Given the description of an element on the screen output the (x, y) to click on. 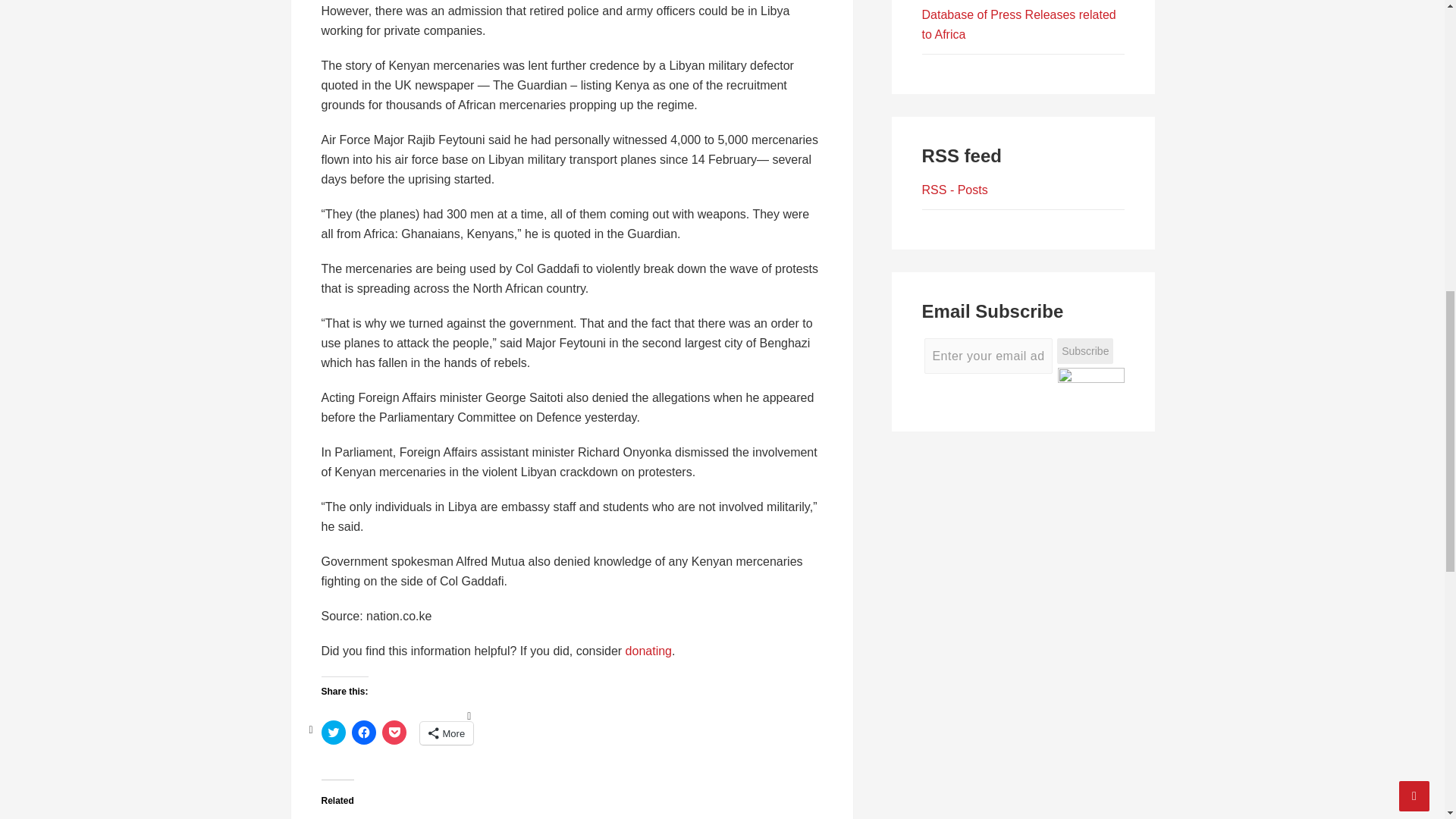
Subscribe (1085, 351)
donating (648, 650)
More (447, 732)
Click to share on Twitter (333, 732)
Click to share on Facebook (363, 732)
Click to share on Pocket (393, 732)
